Given the description of an element on the screen output the (x, y) to click on. 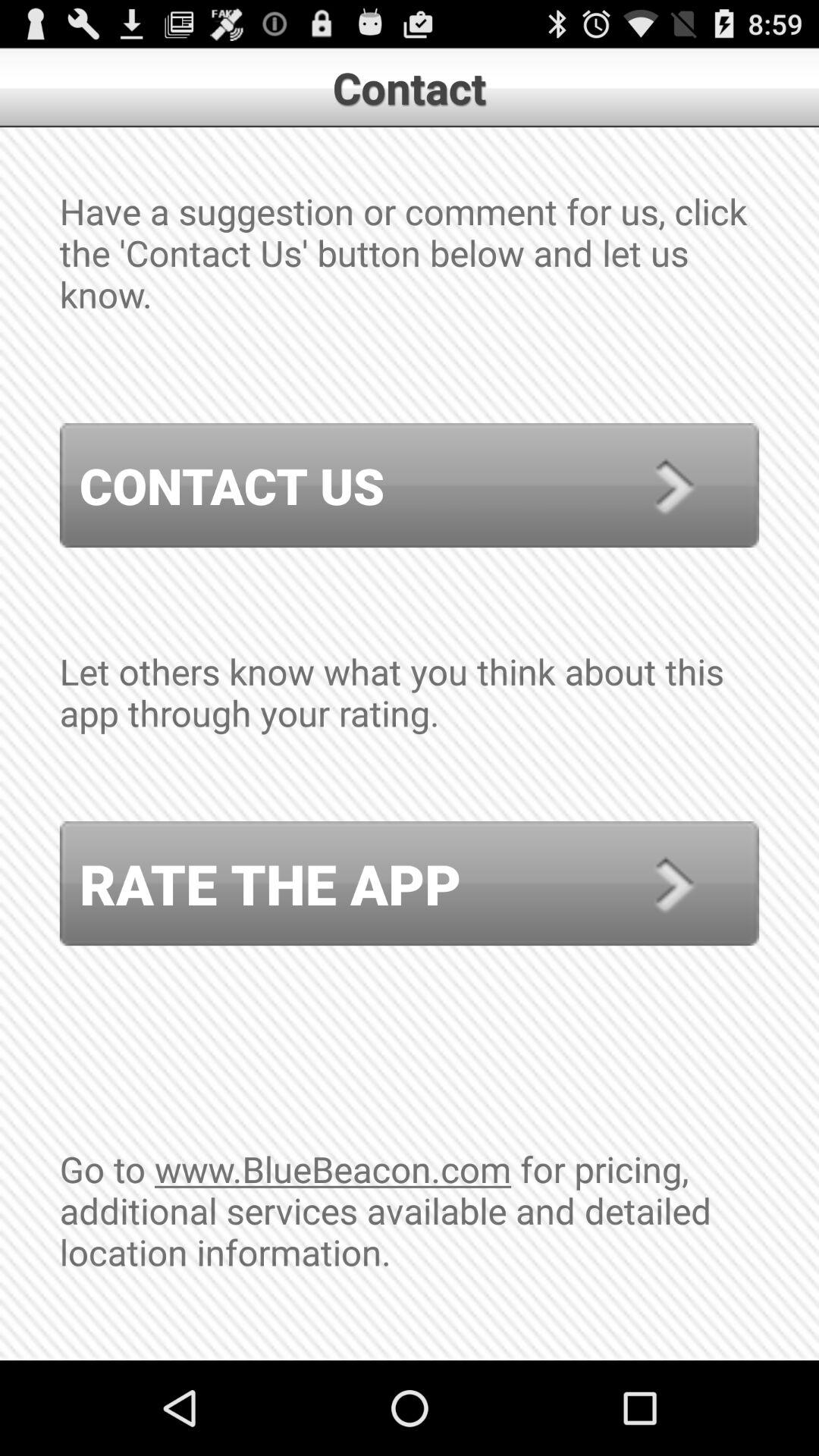
turn on the icon below rate the app (409, 1252)
